Given the description of an element on the screen output the (x, y) to click on. 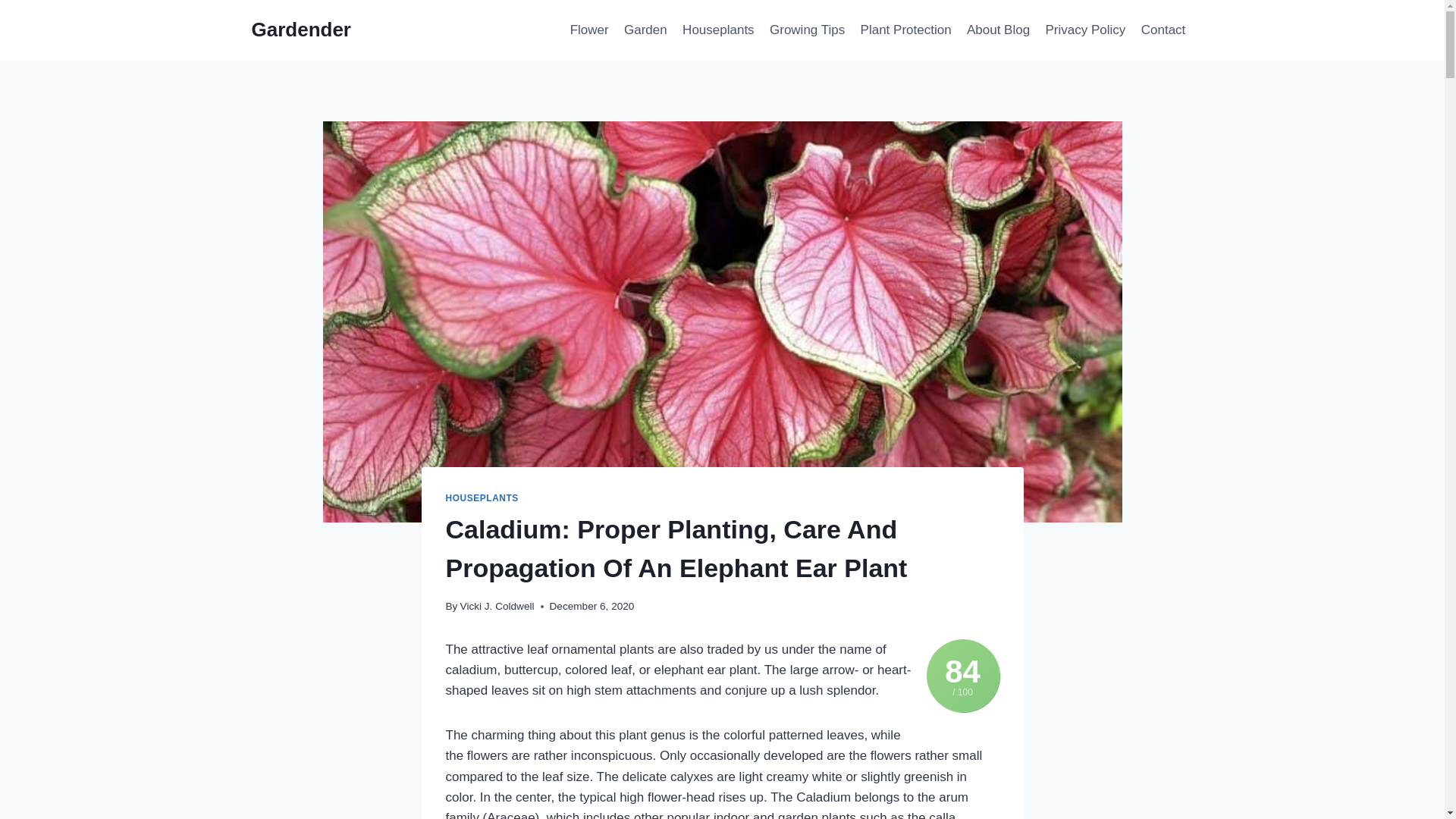
Vicki J. Coldwell (497, 605)
HOUSEPLANTS (481, 498)
Plant Protection (904, 30)
Houseplants (718, 30)
Contact (1163, 30)
Flower (588, 30)
Growing Tips (807, 30)
Gardender (301, 29)
Garden (645, 30)
Privacy Policy (1084, 30)
